Given the description of an element on the screen output the (x, y) to click on. 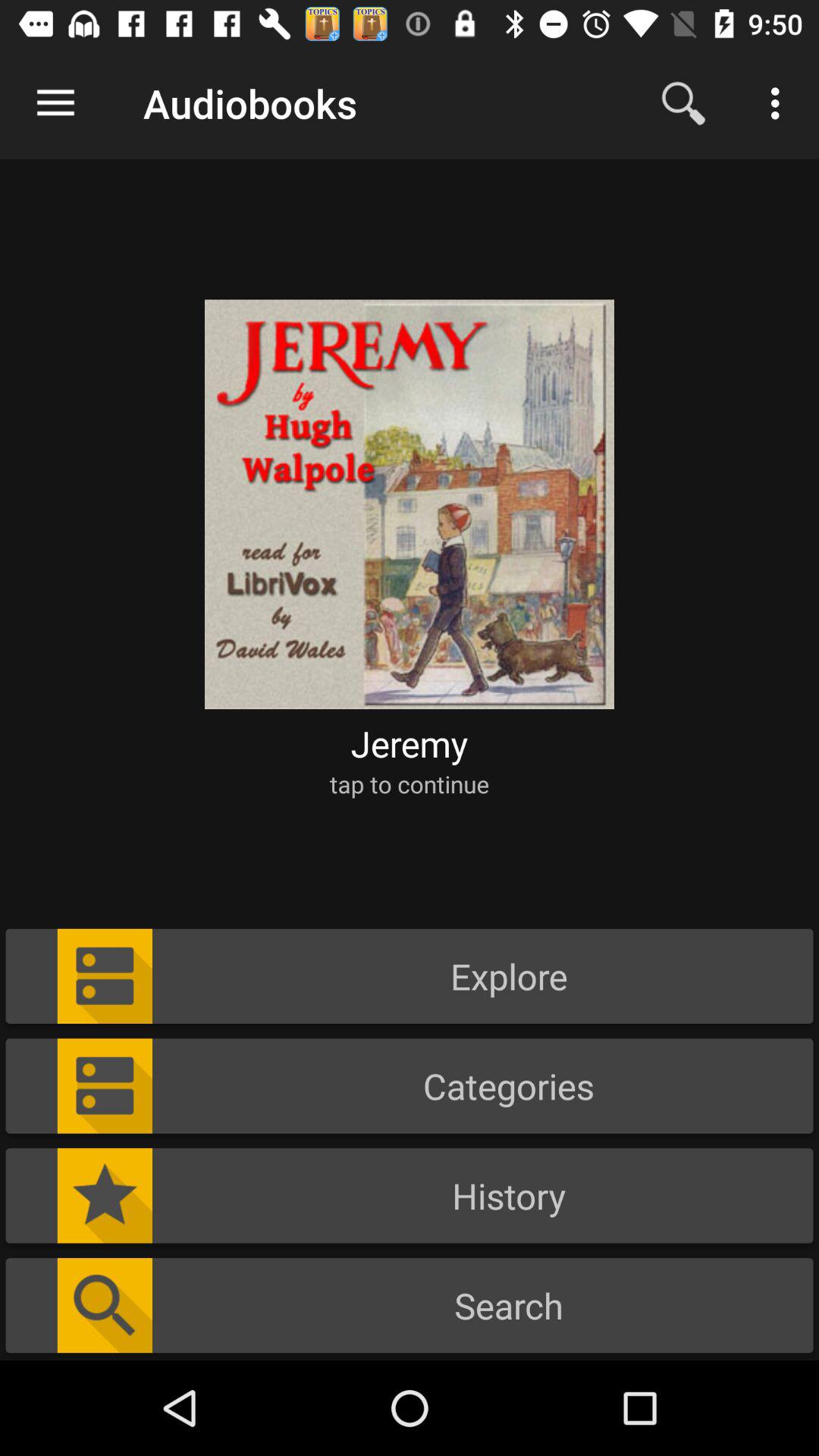
select icon below audiobooks item (409, 494)
